Given the description of an element on the screen output the (x, y) to click on. 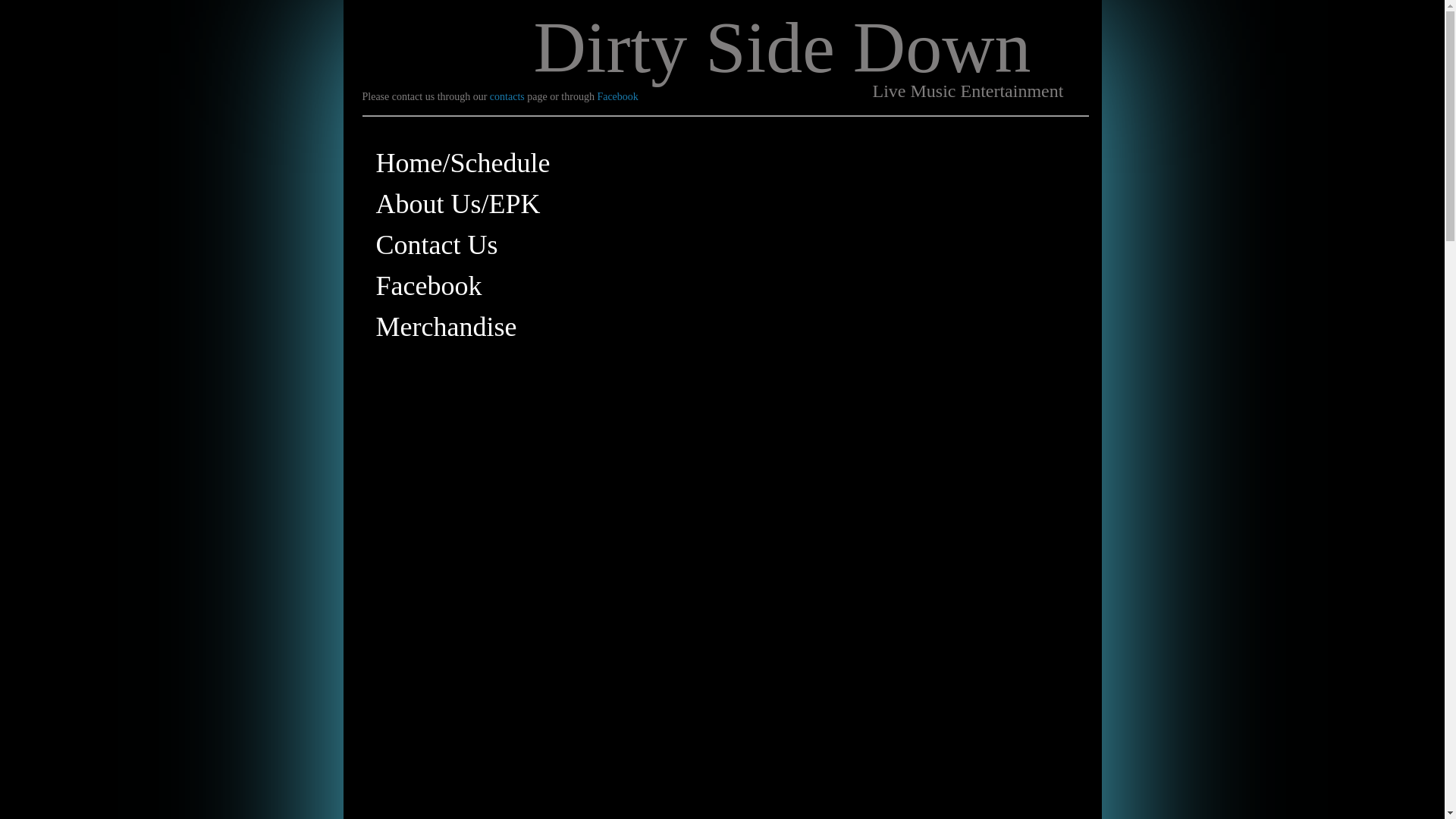
Contact Us Element type: text (437, 244)
Facebook Element type: text (616, 96)
contacts Element type: text (506, 96)
Facebook Element type: text (429, 285)
Merchandise Element type: text (446, 326)
Home/Schedule Element type: text (463, 162)
About Us/EPK Element type: text (458, 203)
